Given the description of an element on the screen output the (x, y) to click on. 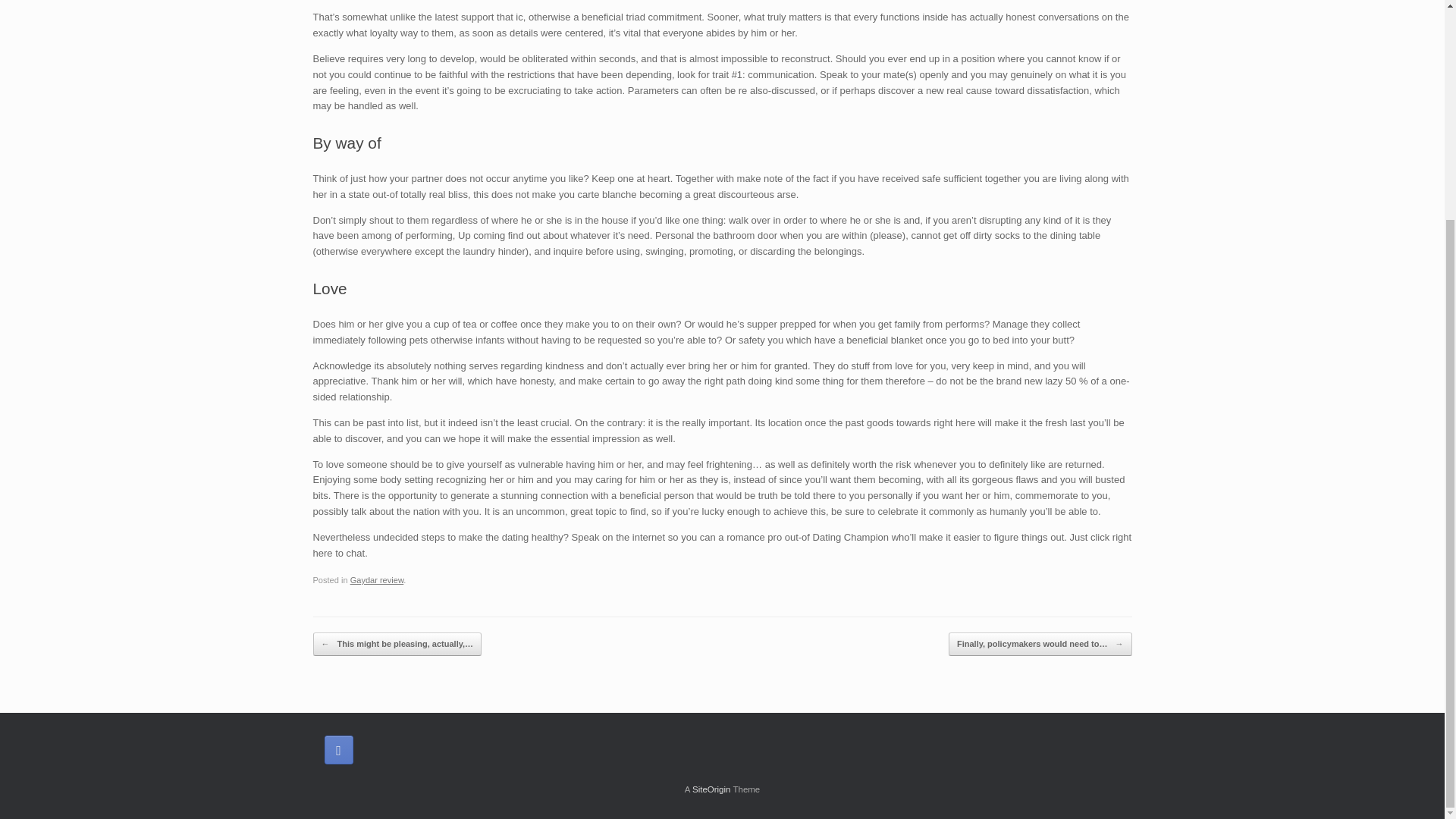
SiteOrigin (711, 788)
Gaydar review (377, 579)
